Given the description of an element on the screen output the (x, y) to click on. 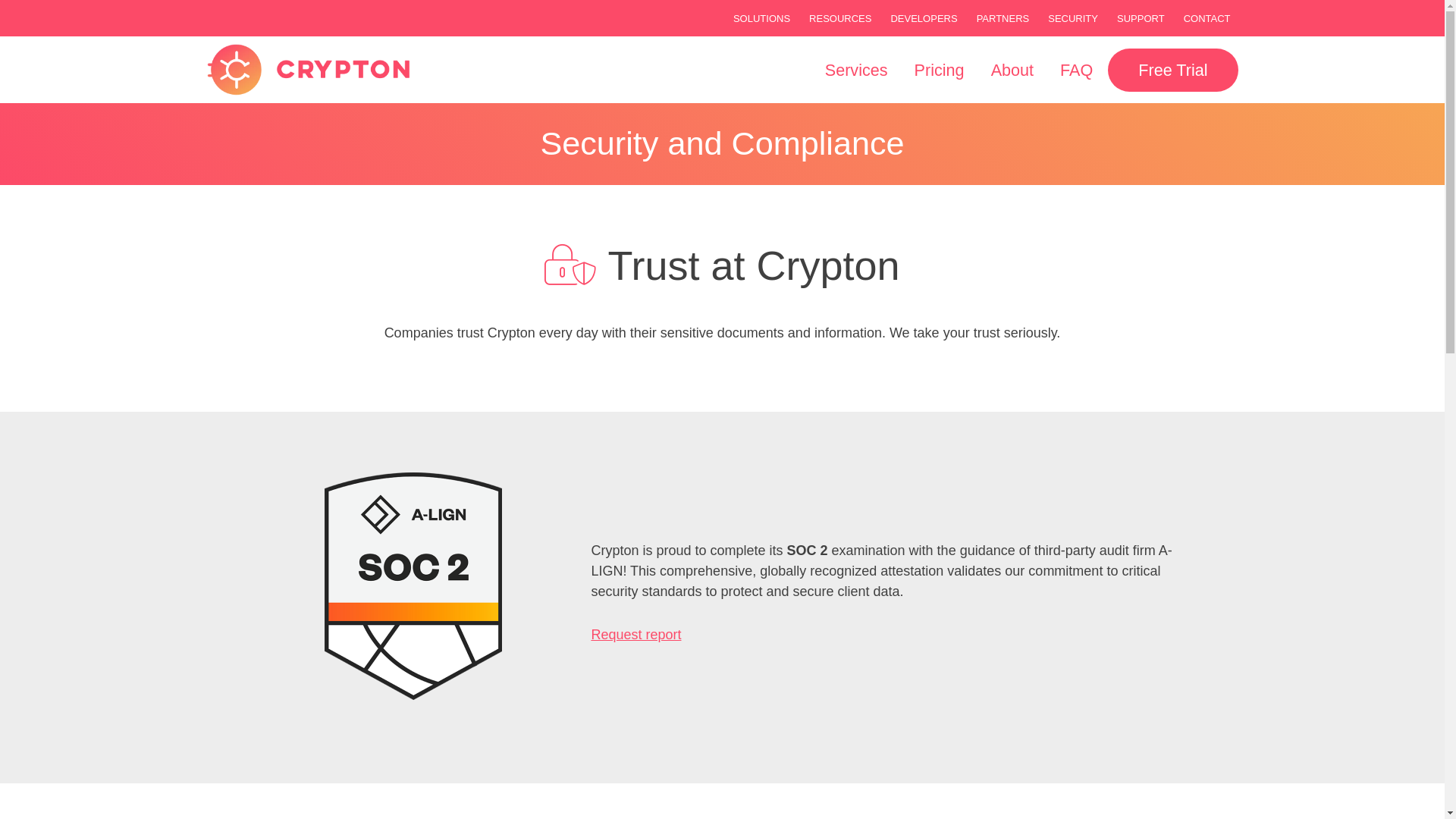
SOLUTIONS (761, 18)
Request report (636, 634)
DEVELOPERS (922, 18)
PARTNERS (1002, 18)
RESOURCES (840, 18)
Pricing (938, 70)
SECURITY (1073, 18)
CONTACT (1207, 18)
FAQ (1075, 70)
About (1012, 70)
Free Trial (1172, 69)
Services (856, 70)
SUPPORT (1140, 18)
